Given the description of an element on the screen output the (x, y) to click on. 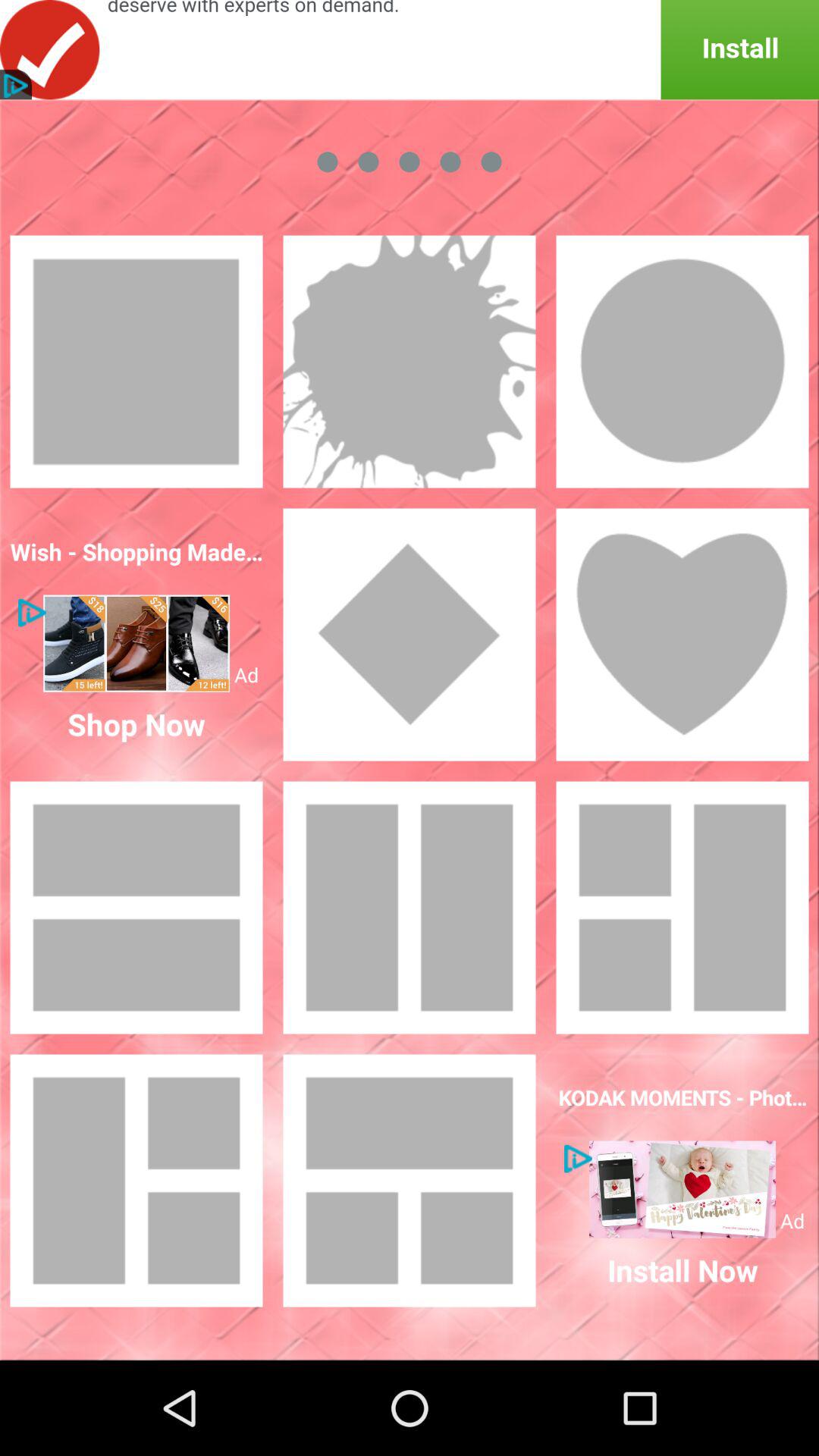
photo adding icon (409, 1180)
